Given the description of an element on the screen output the (x, y) to click on. 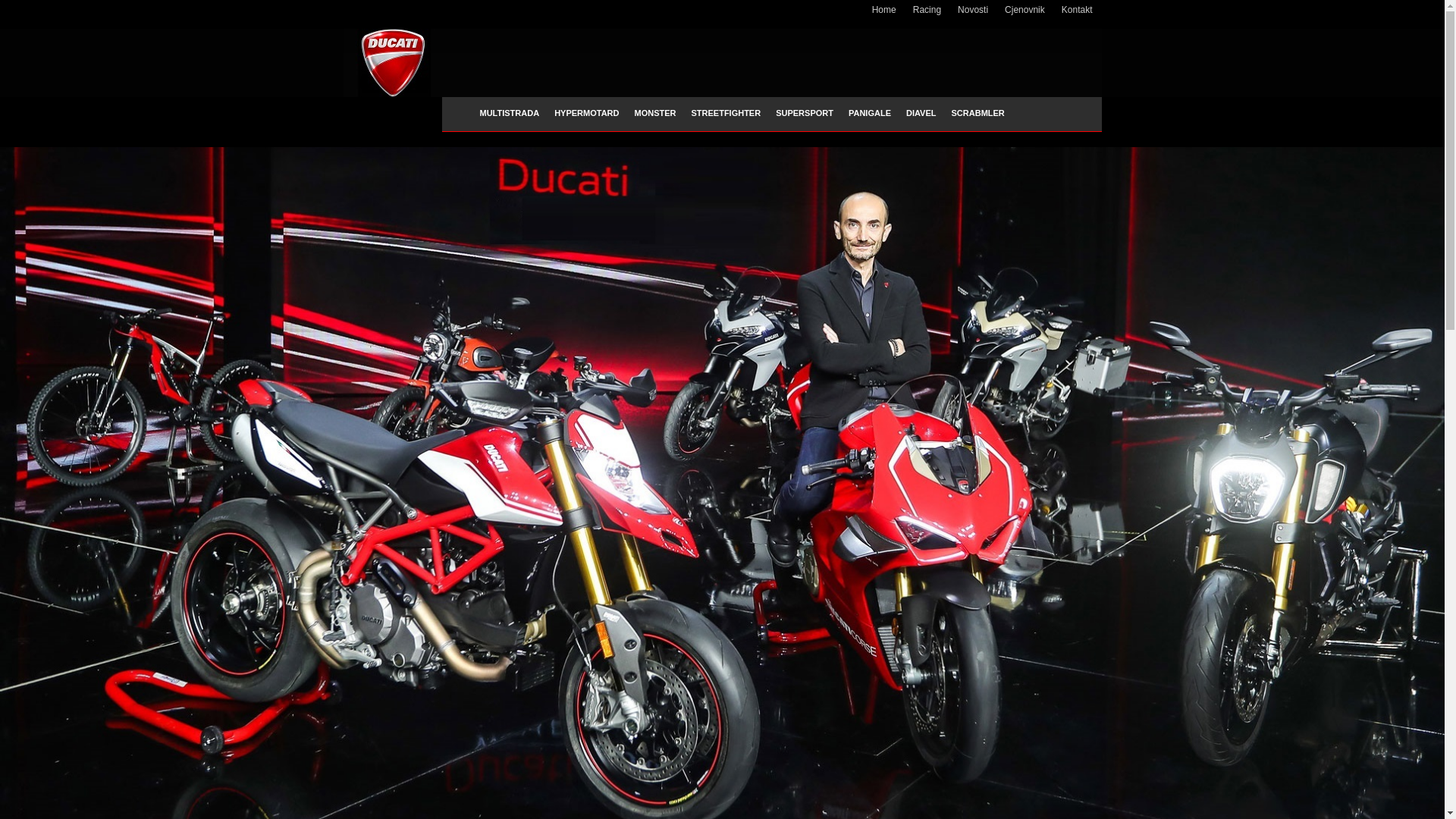
MULTISTRADA Element type: text (508, 112)
STREETFIGHTER Element type: text (725, 112)
PANIGALE Element type: text (869, 112)
SCRABMLER Element type: text (978, 112)
Cjenovnik Element type: text (1024, 14)
Home Element type: text (884, 14)
DIAVEL Element type: text (921, 112)
Racing Element type: text (926, 14)
Kontakt Element type: text (1076, 14)
MONSTER Element type: text (654, 112)
Novosti Element type: text (972, 14)
HYPERMOTARD Element type: text (586, 112)
SUPERSPORT Element type: text (804, 112)
